Given the description of an element on the screen output the (x, y) to click on. 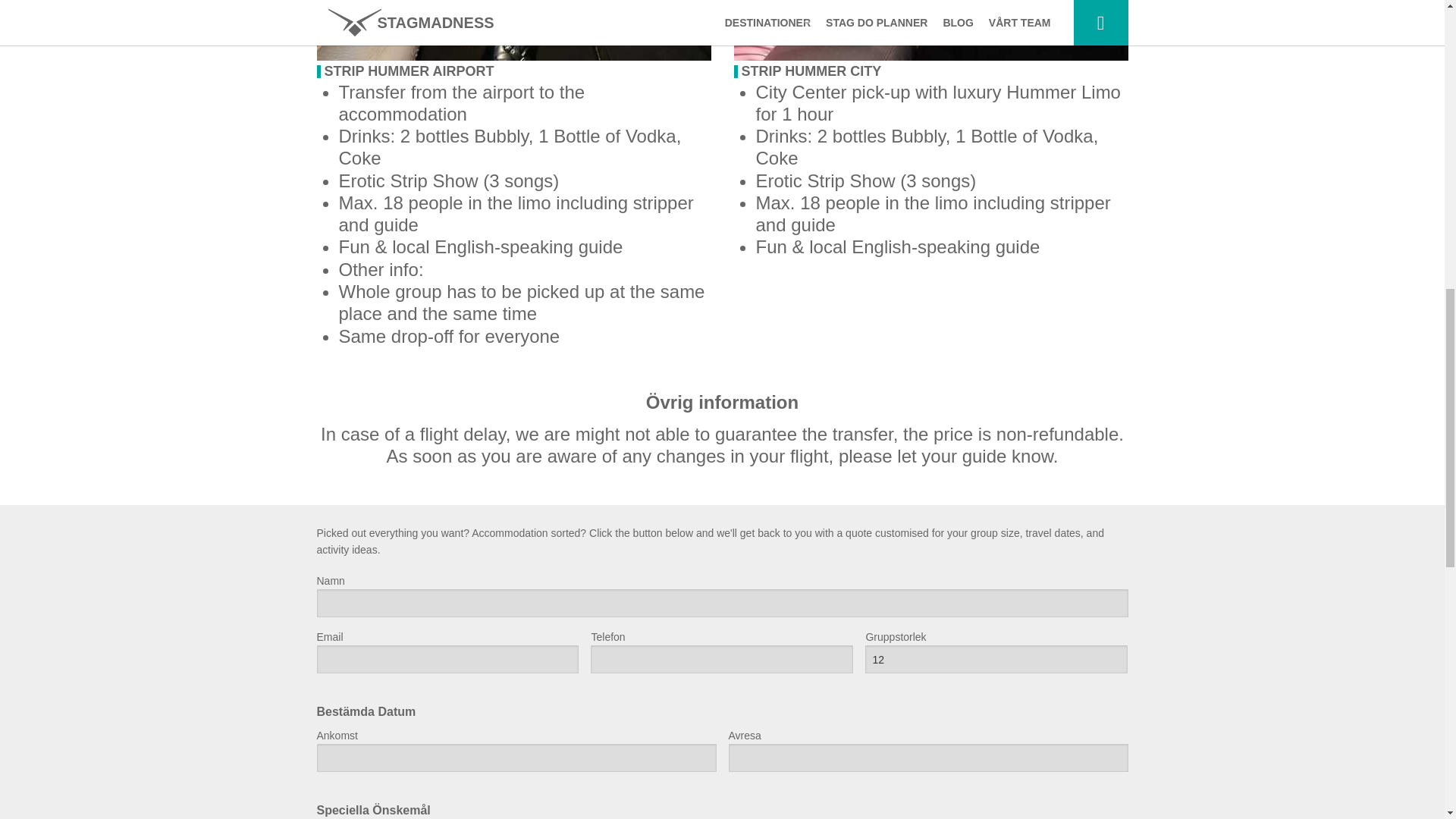
STRIP HUMMER CITY (811, 70)
STRIP HUMMER AIRPORT (409, 70)
12 (995, 659)
